Given the description of an element on the screen output the (x, y) to click on. 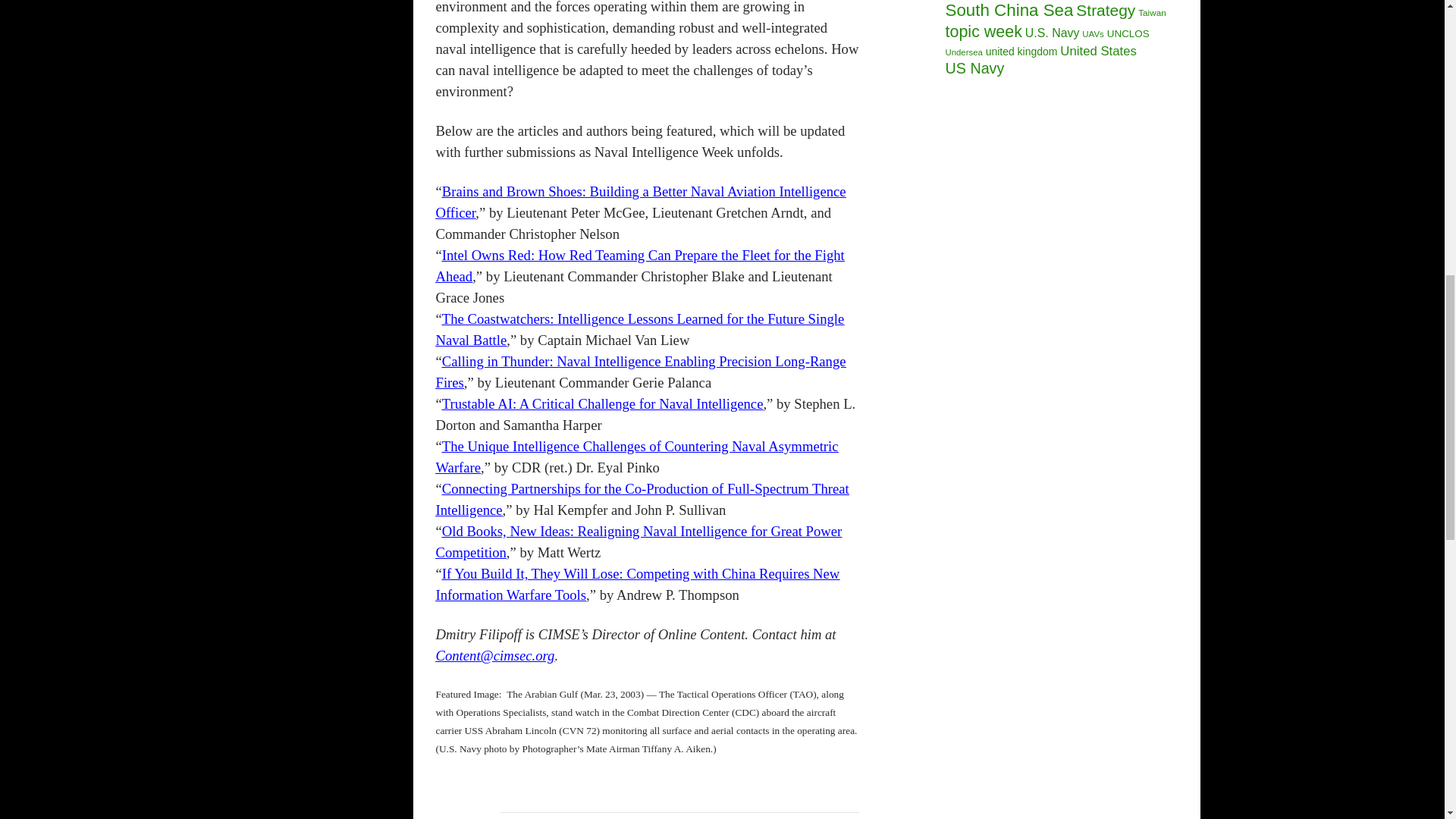
Trustable AI: A Critical Challenge for Naval Intelligence (602, 403)
